Given the description of an element on the screen output the (x, y) to click on. 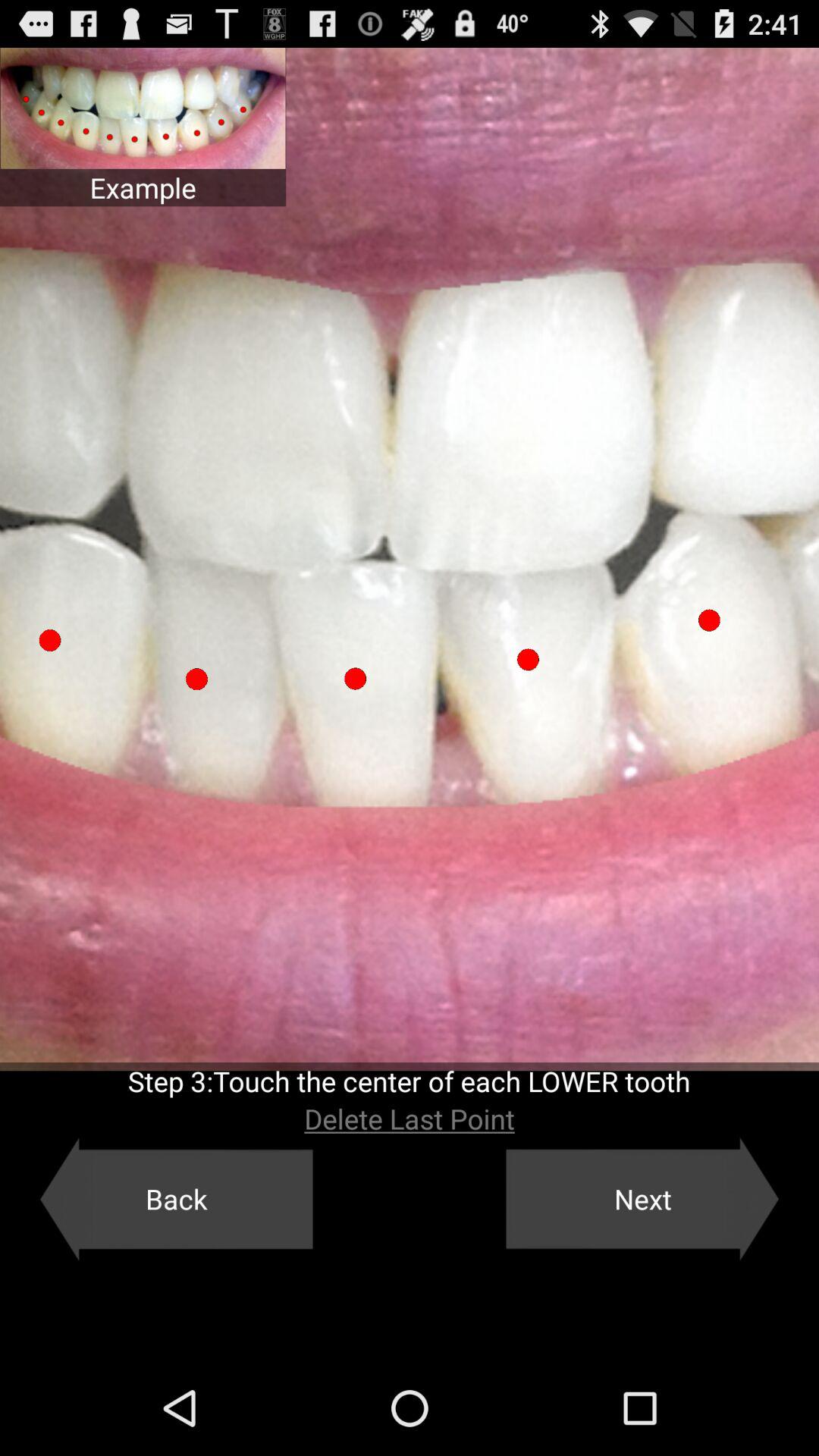
turn on the icon above the back button (409, 1118)
